Given the description of an element on the screen output the (x, y) to click on. 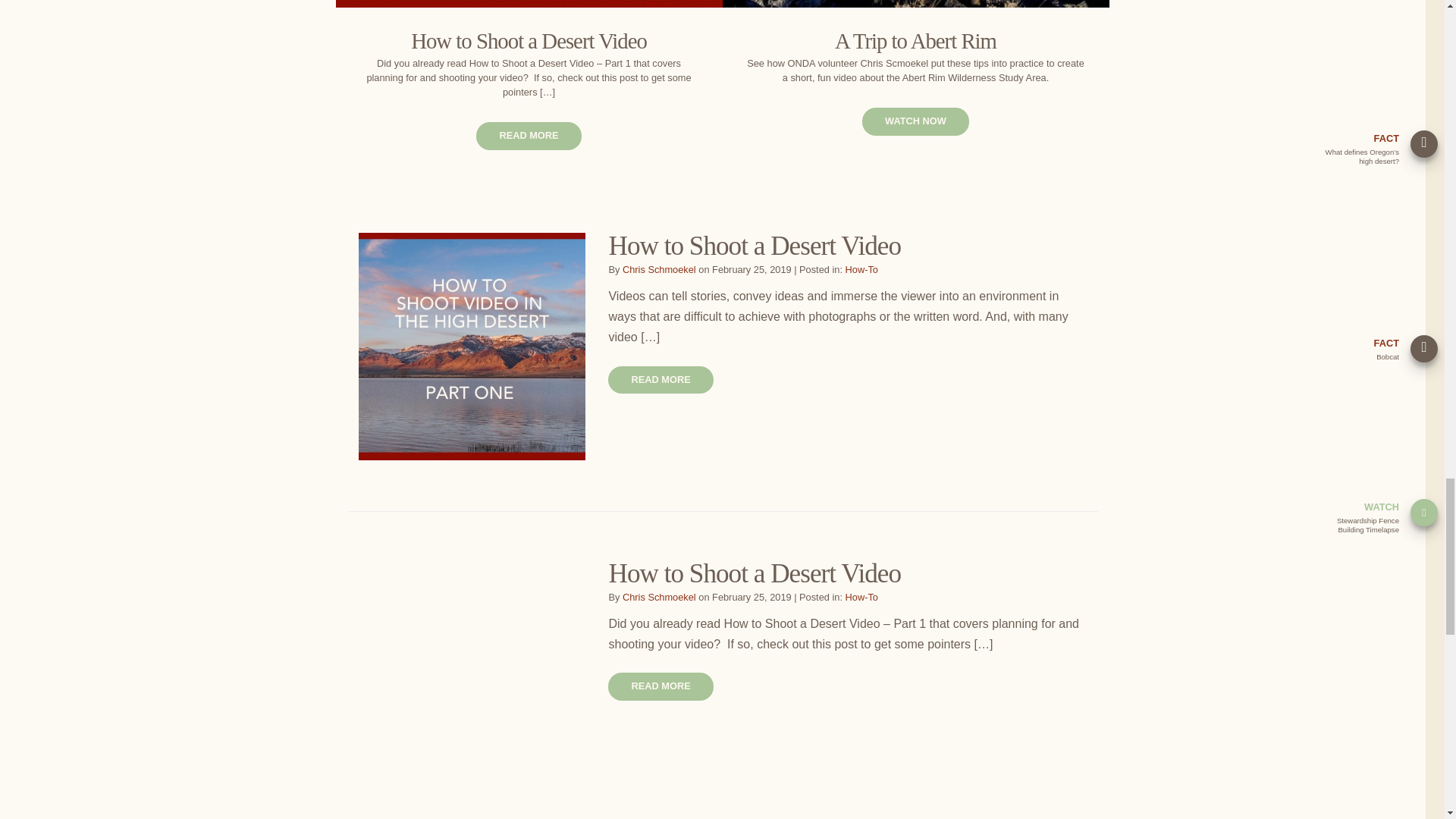
How to Shoot a Desert Video (754, 573)
How to Shoot a Desert Video (754, 245)
Posts by Chris Schmoekel (659, 596)
Posts by Chris Schmoekel (659, 269)
